Given the description of an element on the screen output the (x, y) to click on. 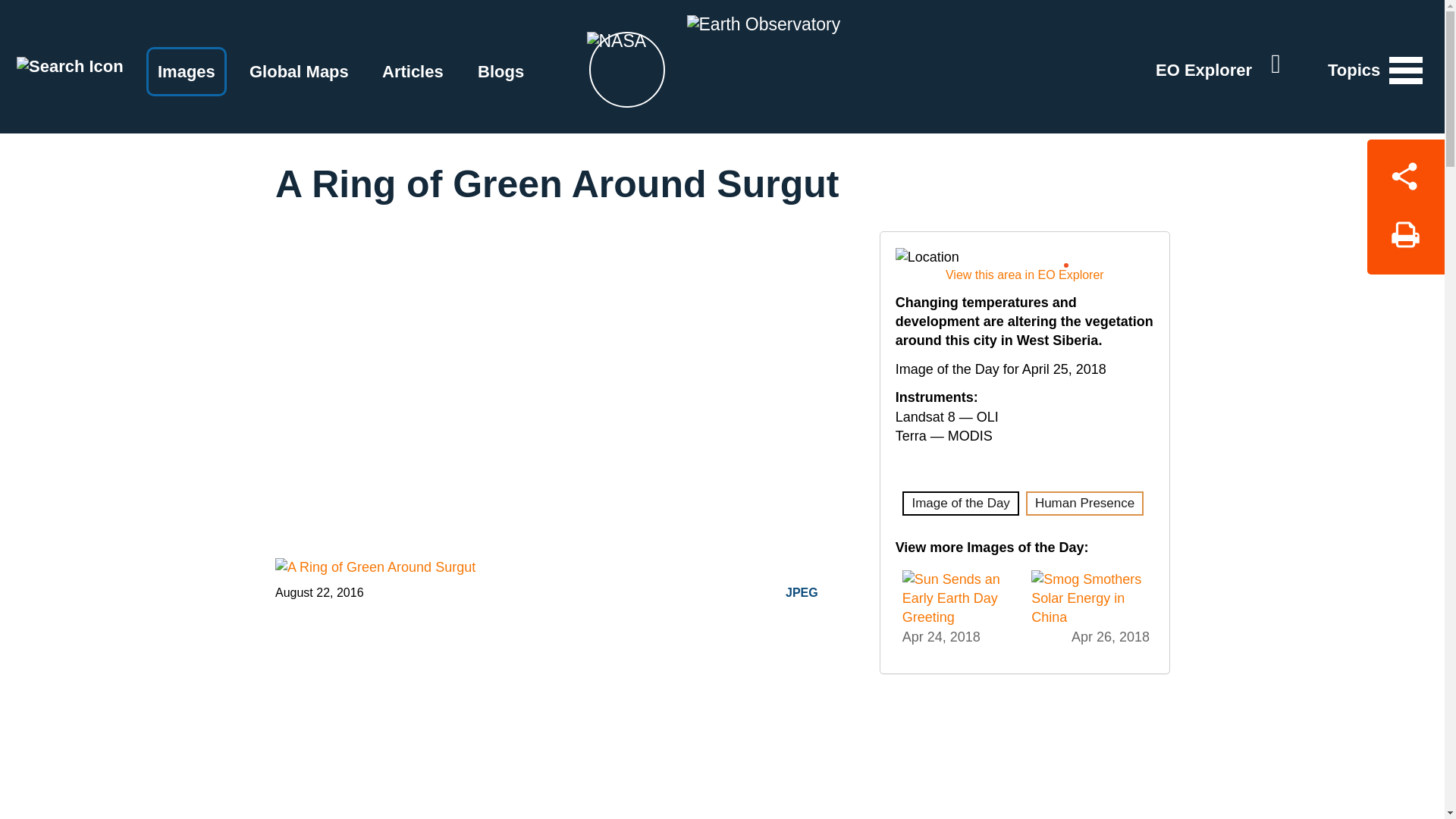
Search (70, 65)
Share (1405, 173)
Print (1405, 240)
